Given the description of an element on the screen output the (x, y) to click on. 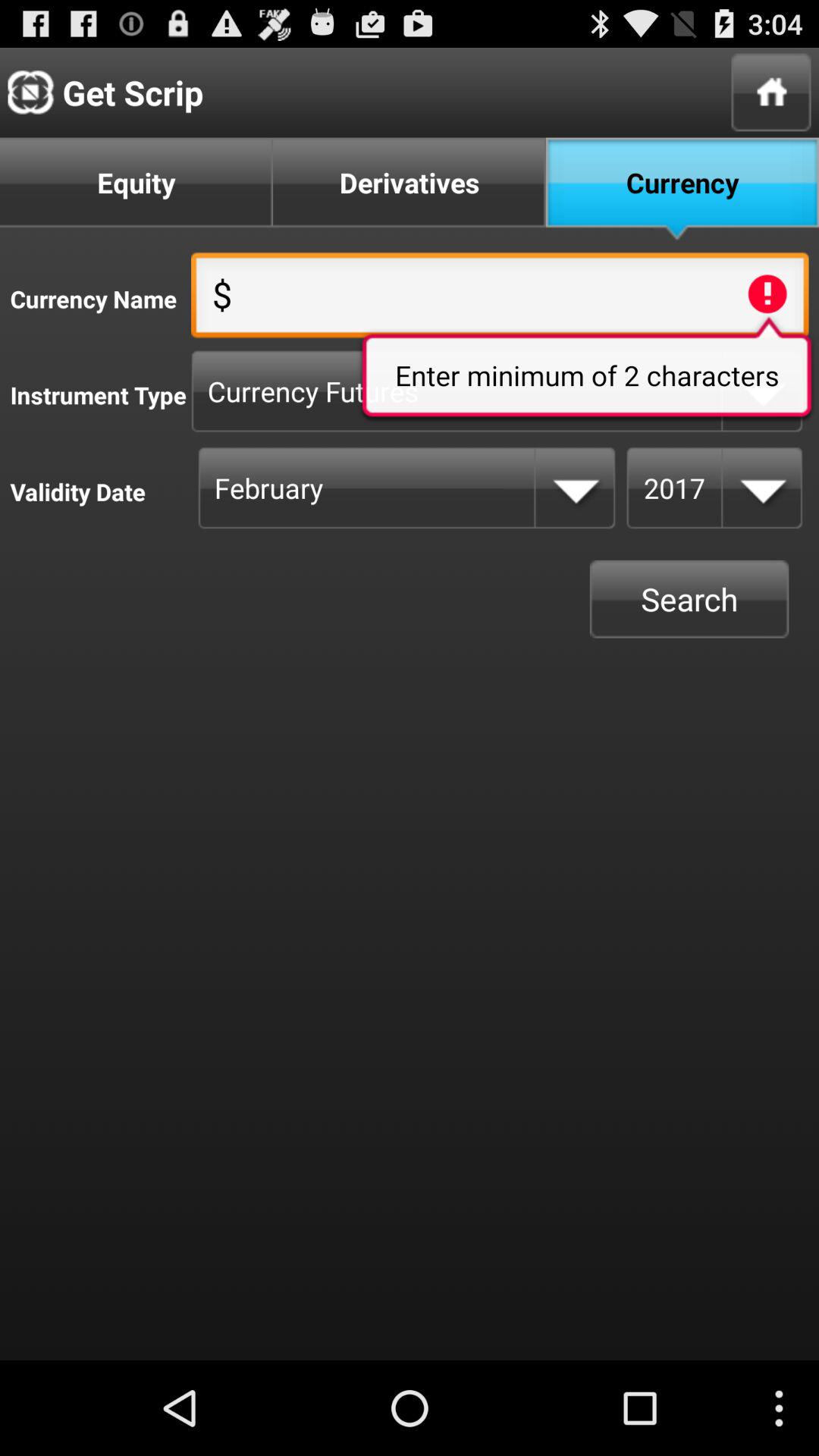
select the first text field on the web page (499, 299)
click the search button on the web page (688, 599)
select the tab derivatives on the web page (409, 189)
